Given the description of an element on the screen output the (x, y) to click on. 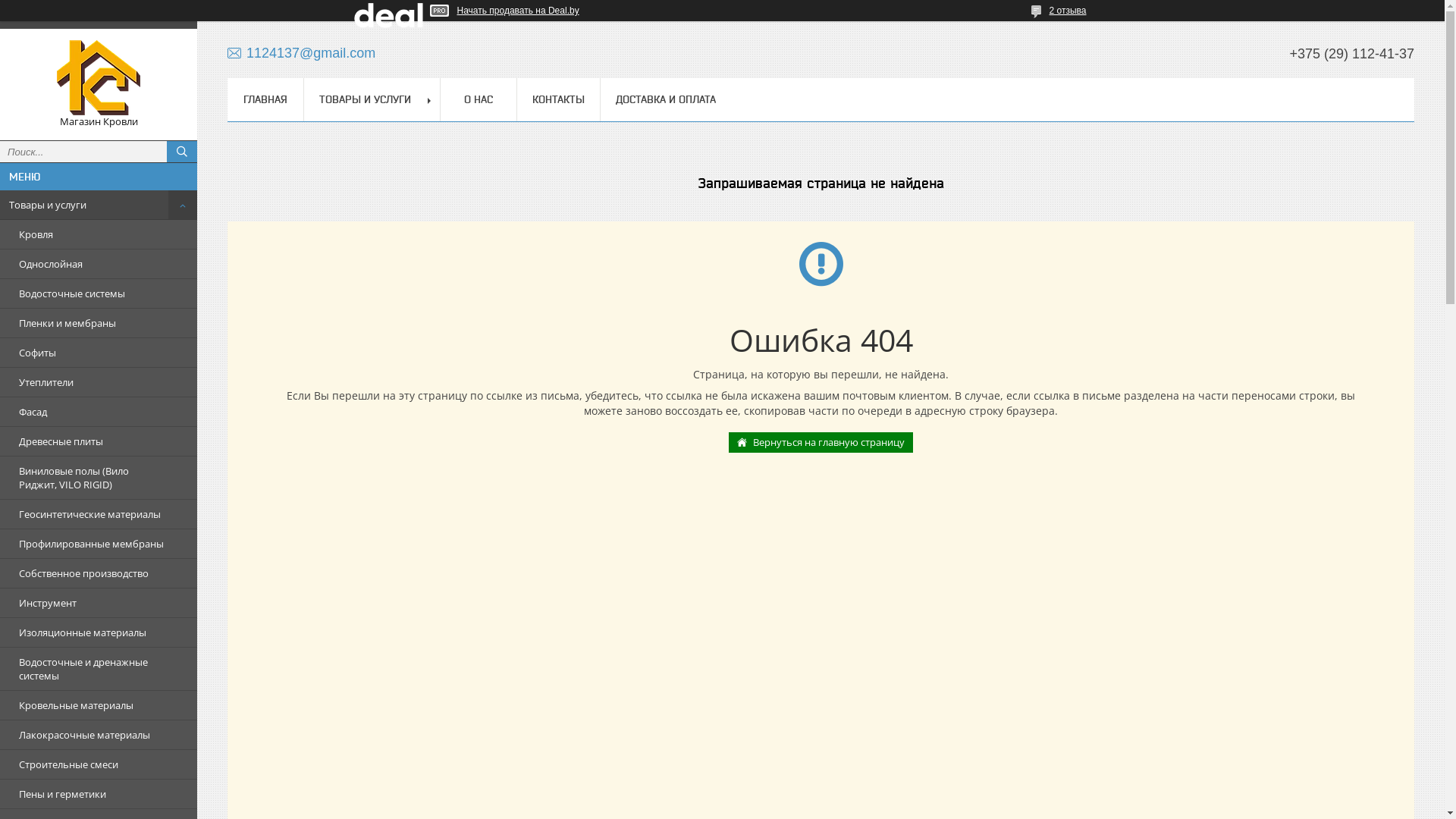
1124137@gmail.com Element type: text (301, 52)
